Given the description of an element on the screen output the (x, y) to click on. 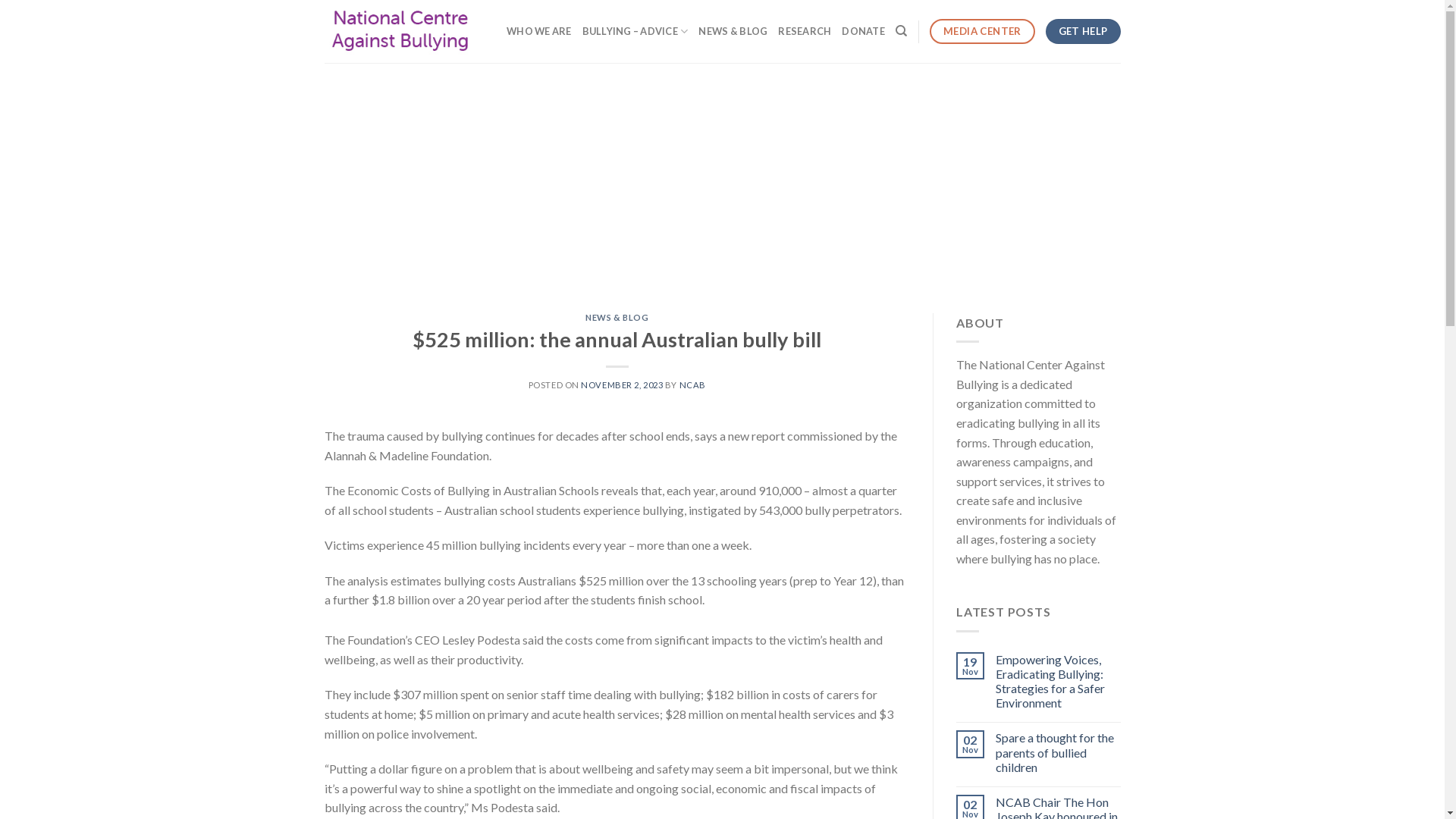
RESEARCH Element type: text (804, 30)
National Center Against Bullying Element type: hover (400, 31)
Spare a thought for the parents of bullied children Element type: text (1057, 752)
MEDIA CENTER Element type: text (981, 30)
GET HELP Element type: text (1082, 31)
NOVEMBER 2, 2023 Element type: text (621, 384)
NCAB Element type: text (692, 384)
WHO WE ARE Element type: text (538, 30)
DONATE Element type: text (862, 30)
NEWS & BLOG Element type: text (732, 30)
NEWS & BLOG Element type: text (616, 317)
Advertisement Element type: hover (721, 176)
